Given the description of an element on the screen output the (x, y) to click on. 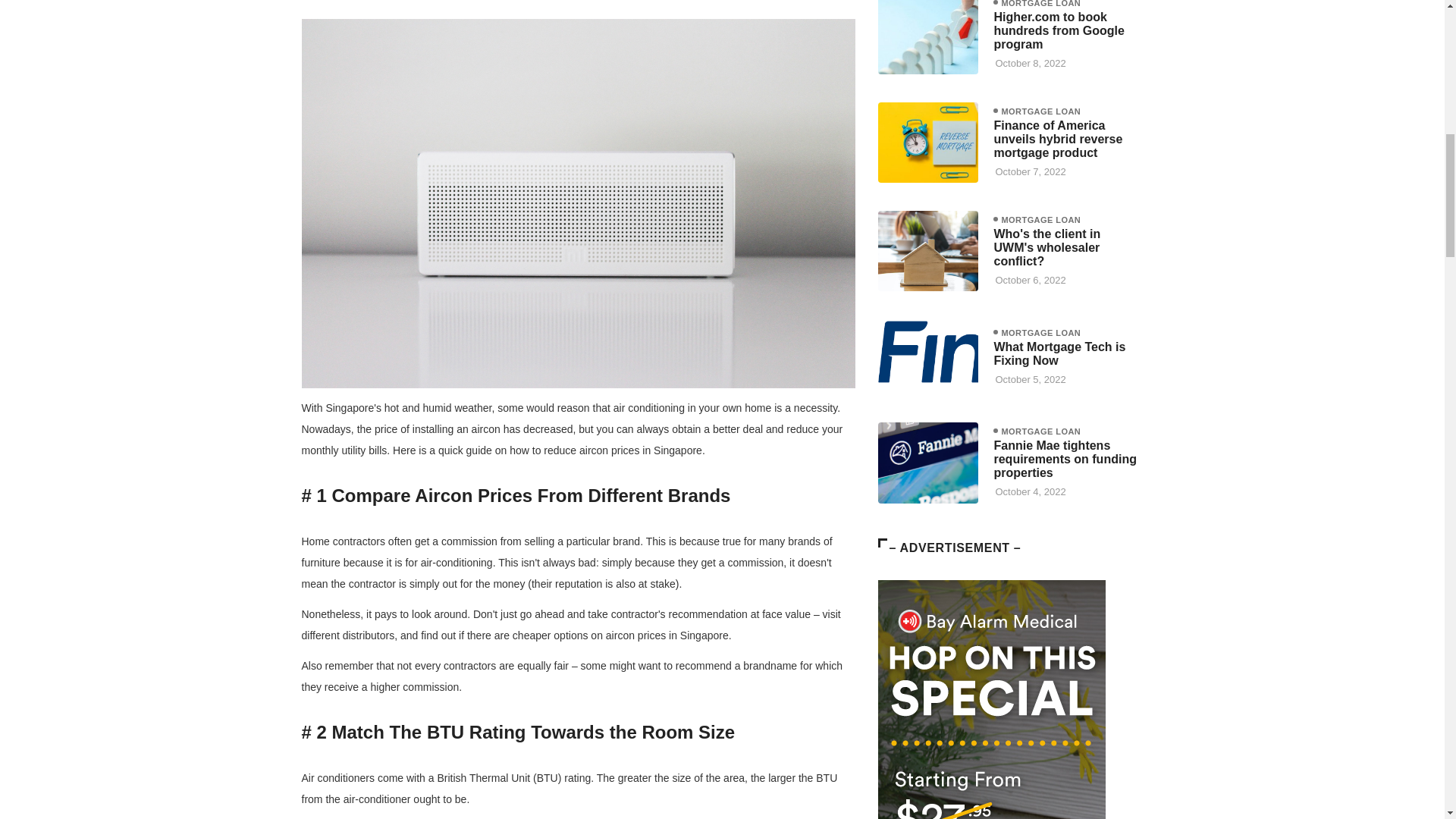
Finance of America unveils hybrid reverse mortgage product (927, 142)
Finance of America unveils hybrid reverse mortgage product (1057, 138)
Fannie Mae tightens requirements on funding properties (927, 462)
What Mortgage Tech is Fixing Now (1058, 353)
Who's the client in UWM's wholesaler conflict? (927, 250)
Who's the client in UWM's wholesaler conflict? (1046, 247)
Higher.com to book hundreds from Google program (927, 37)
Higher.com to book hundreds from Google program (1058, 30)
What Mortgage Tech is Fixing Now (927, 359)
Fannie Mae tightens requirements on funding properties (1063, 458)
